Given the description of an element on the screen output the (x, y) to click on. 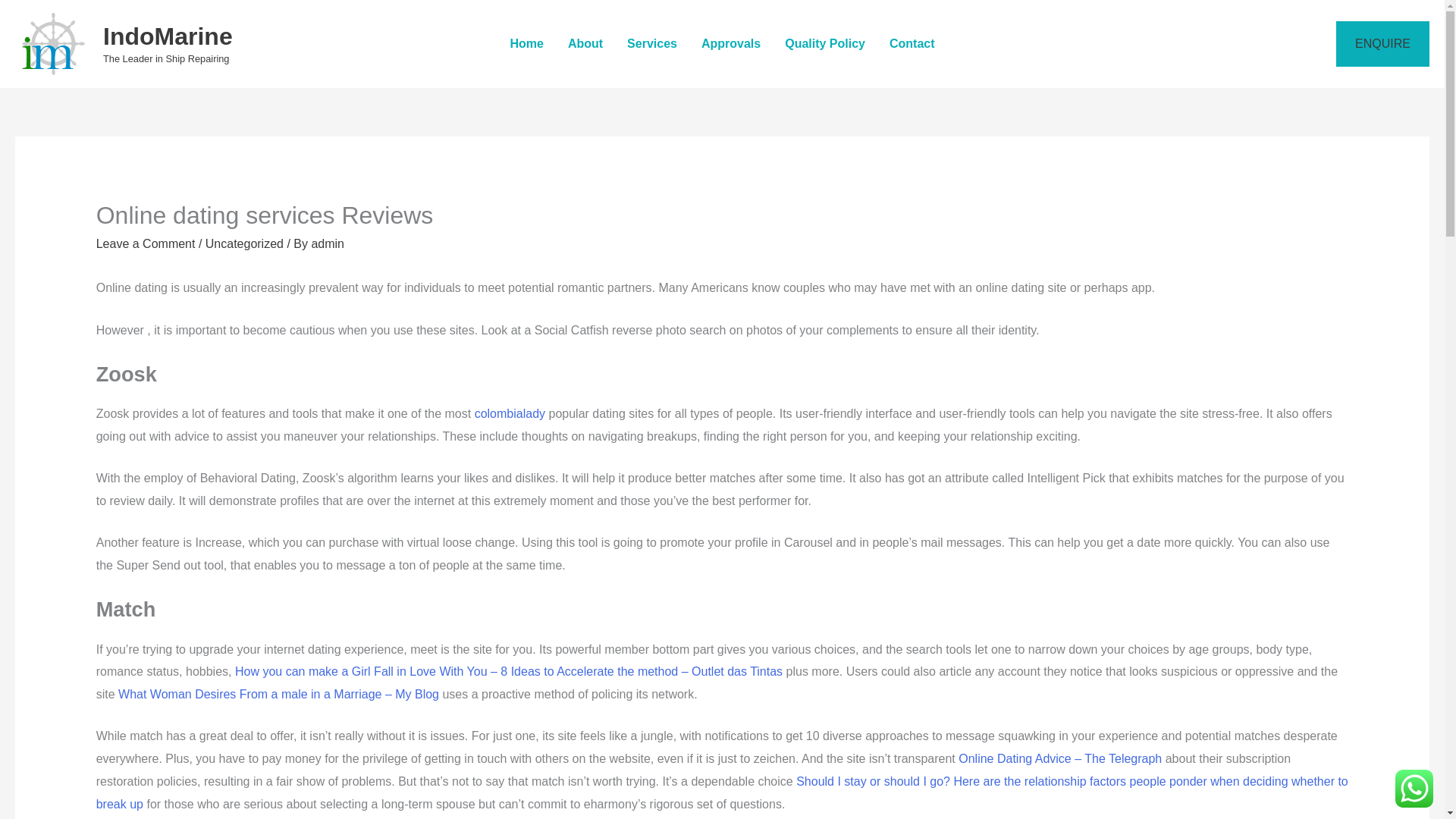
admin (327, 243)
Approvals (730, 43)
Uncategorized (244, 243)
About (585, 43)
Services (651, 43)
View all posts by admin (327, 243)
Contact (912, 43)
ENQUIRE (1382, 43)
Leave a Comment (145, 243)
colombialady (509, 413)
Quality Policy (825, 43)
Home (525, 43)
IndoMarine (167, 35)
